Given the description of an element on the screen output the (x, y) to click on. 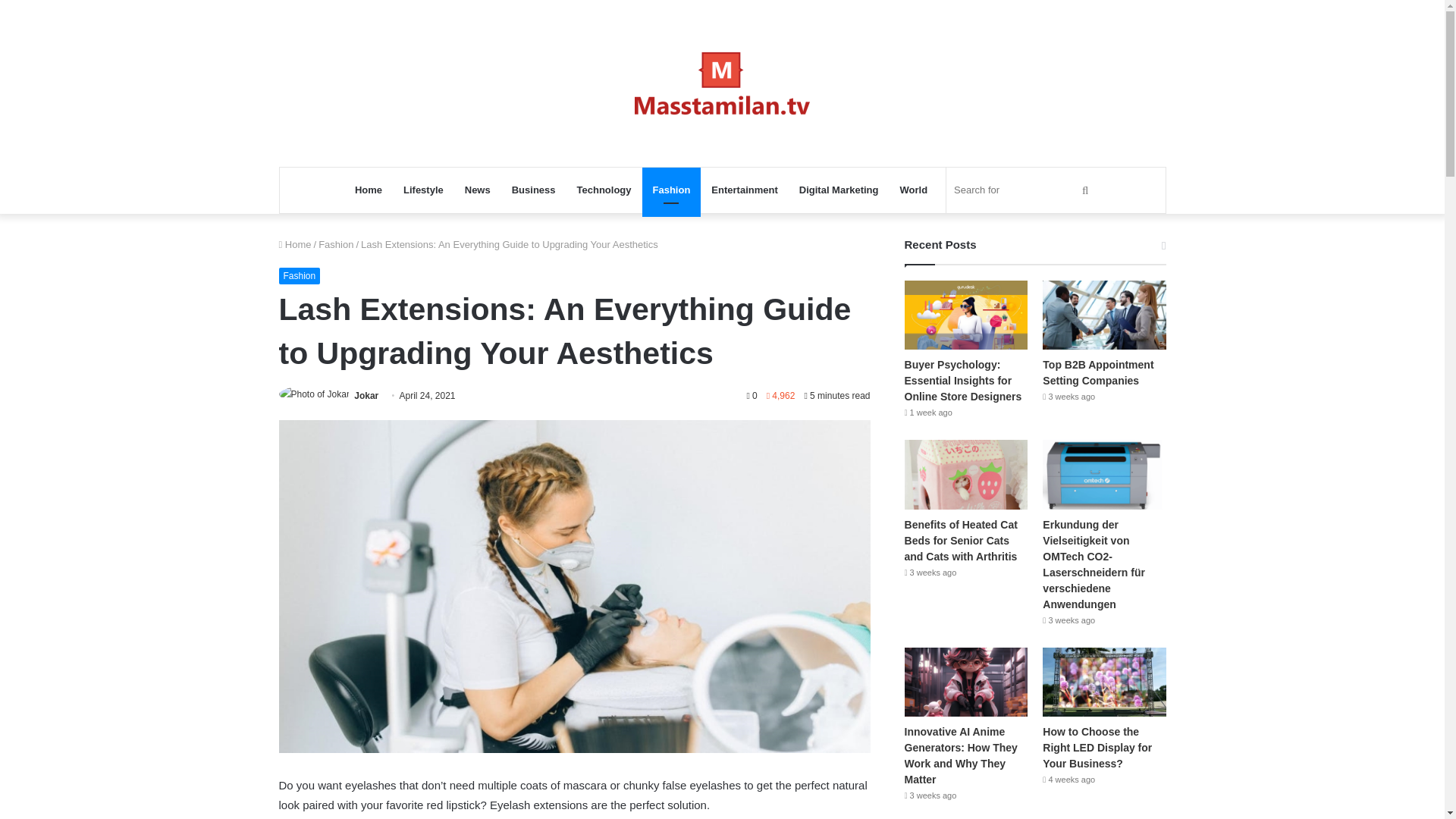
Home (295, 244)
Business (533, 189)
Search for (1023, 189)
Digital Marketing (839, 189)
Jokar (365, 395)
Jokar (365, 395)
Fashion (299, 275)
Technology (604, 189)
Fashion (671, 189)
Search for (1085, 189)
Entertainment (743, 189)
Fashion (335, 244)
MassTamilan (721, 83)
Lifestyle (423, 189)
Home (368, 189)
